Given the description of an element on the screen output the (x, y) to click on. 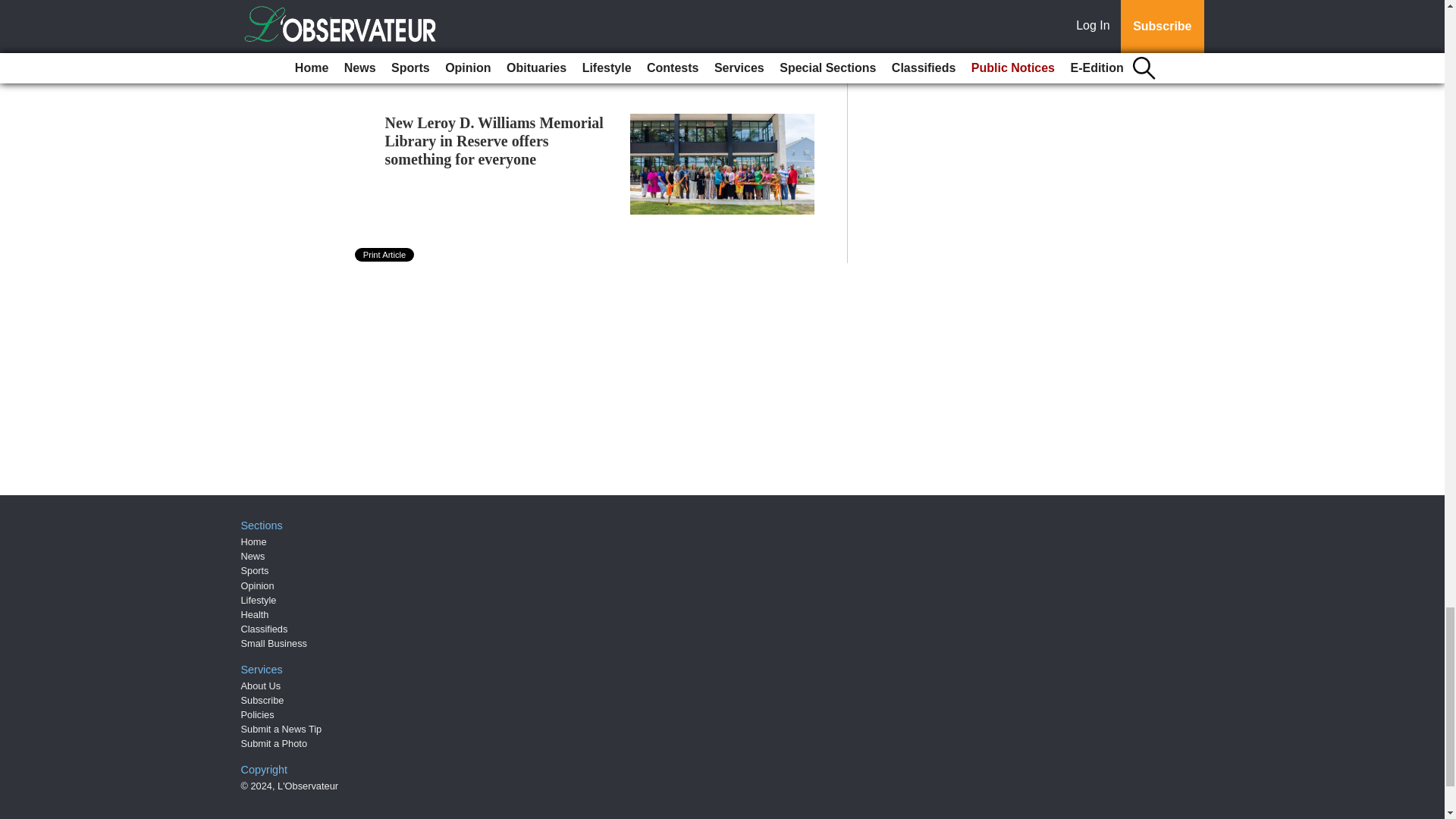
Print Article (384, 254)
Audit finds abuse and neglect in state care facilities (488, 7)
Audit finds abuse and neglect in state care facilities (488, 7)
